Given the description of an element on the screen output the (x, y) to click on. 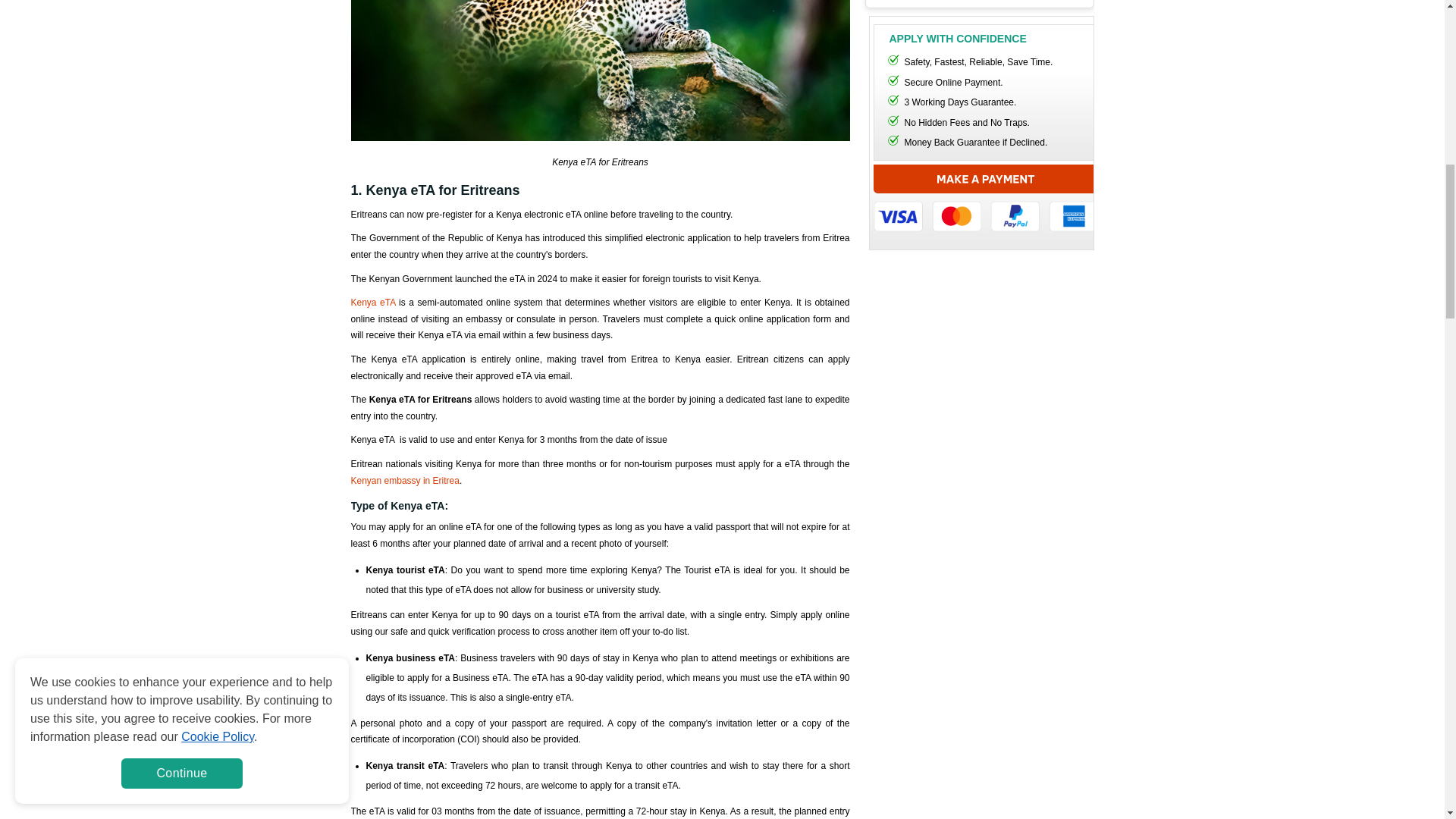
Kenya eTA (372, 302)
Kenyan embassy in Eritrea (404, 480)
